Given the description of an element on the screen output the (x, y) to click on. 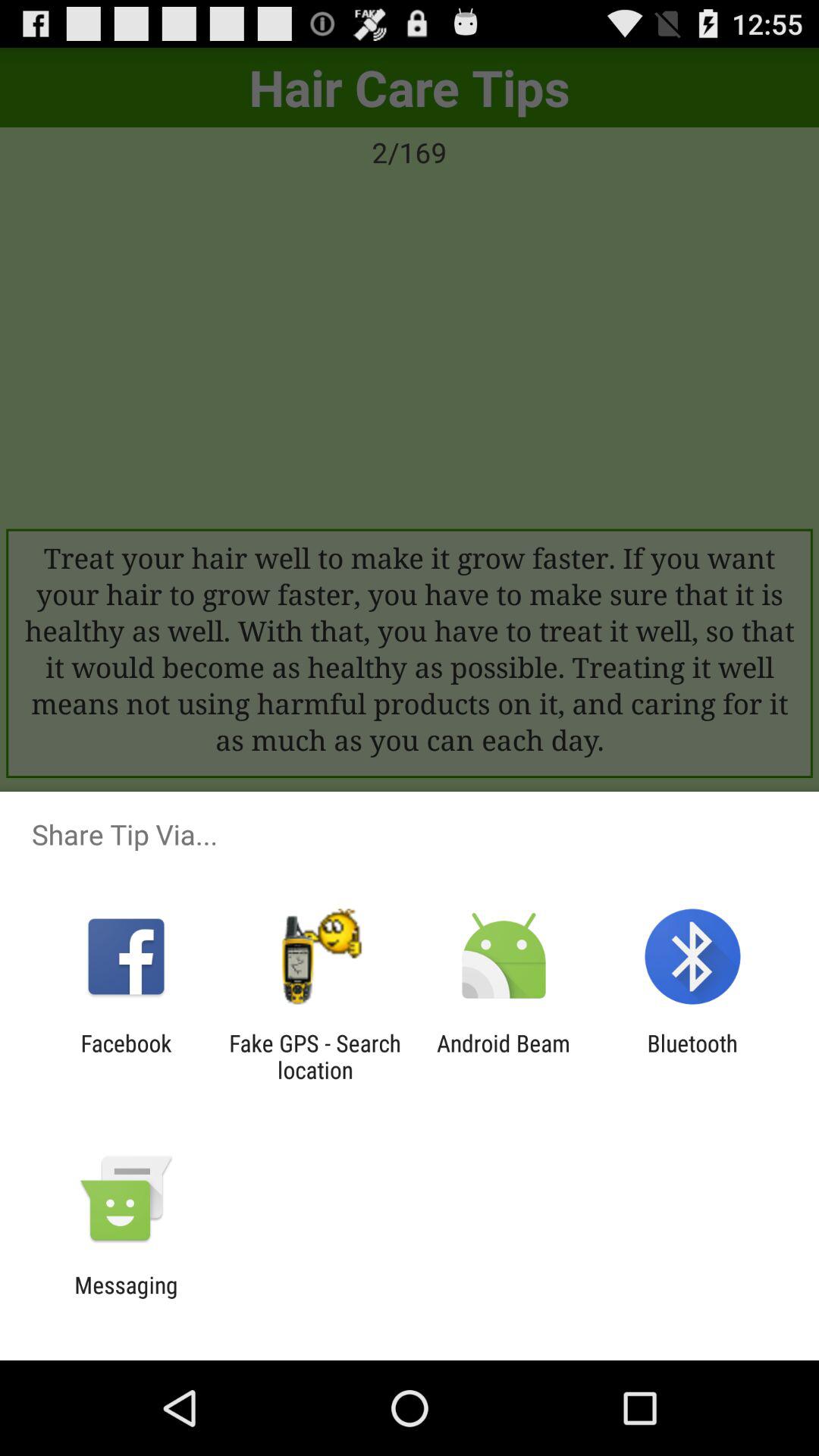
select fake gps search (314, 1056)
